Given the description of an element on the screen output the (x, y) to click on. 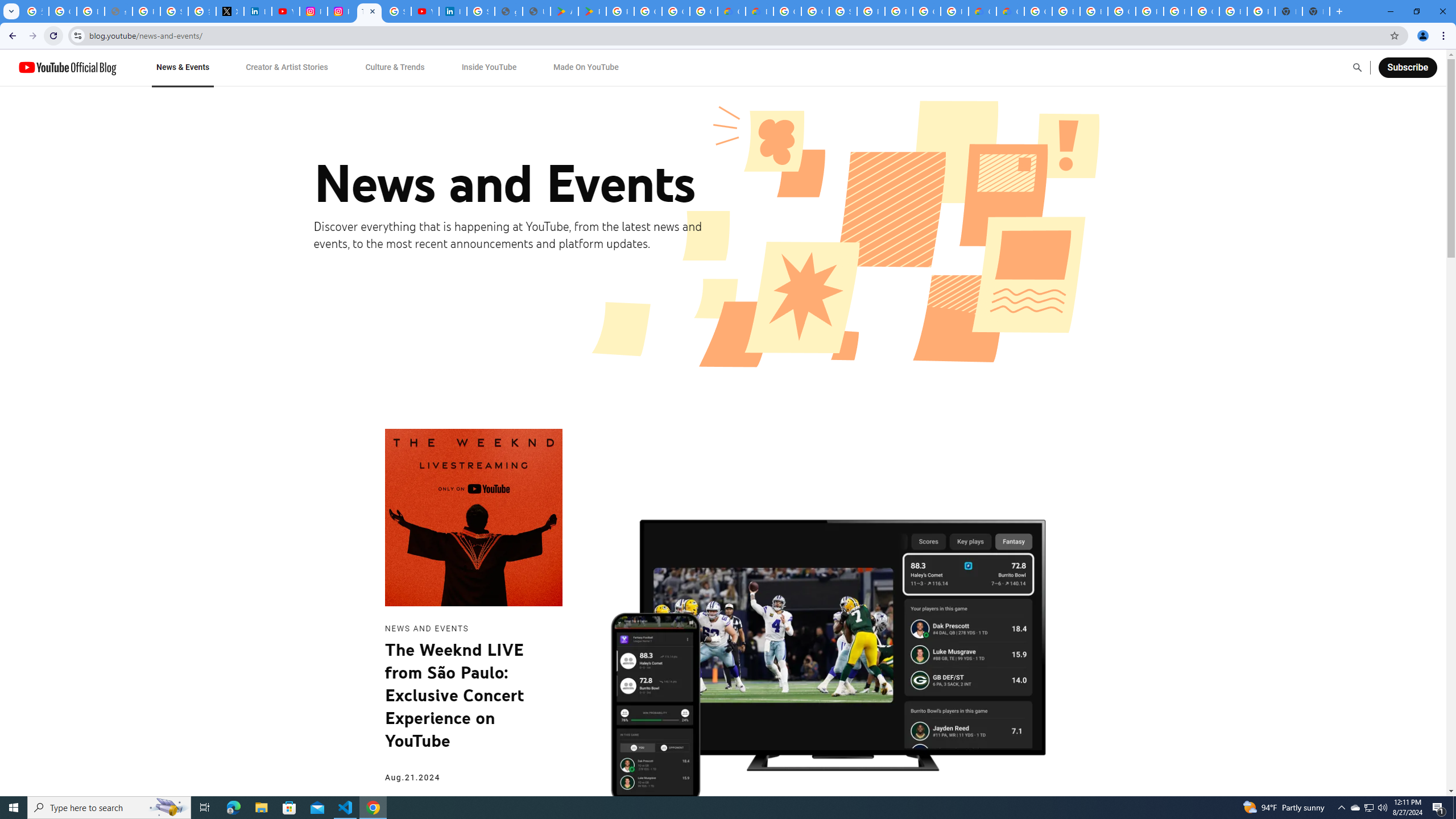
X (229, 11)
Culture & Trends (395, 67)
Google Cloud Platform (1038, 11)
Sign in - Google Accounts (174, 11)
Google Cloud Platform (926, 11)
